Given the description of an element on the screen output the (x, y) to click on. 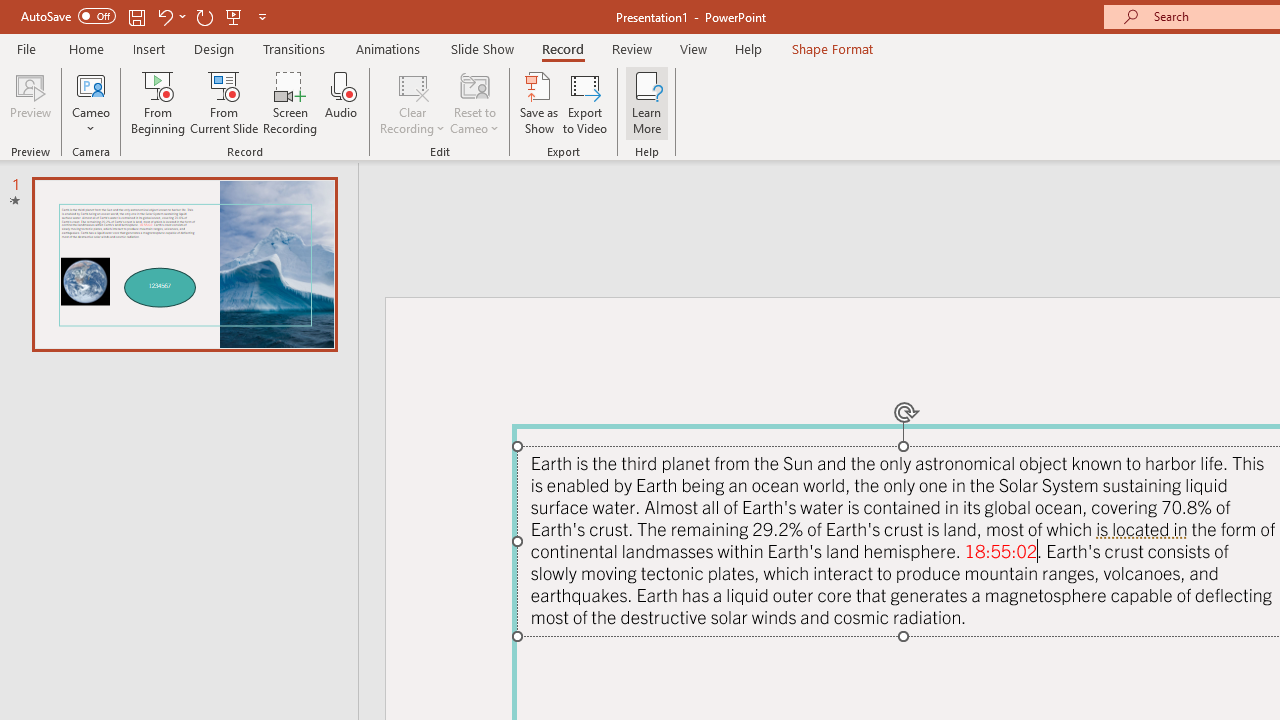
Export to Video (585, 102)
